Given the description of an element on the screen output the (x, y) to click on. 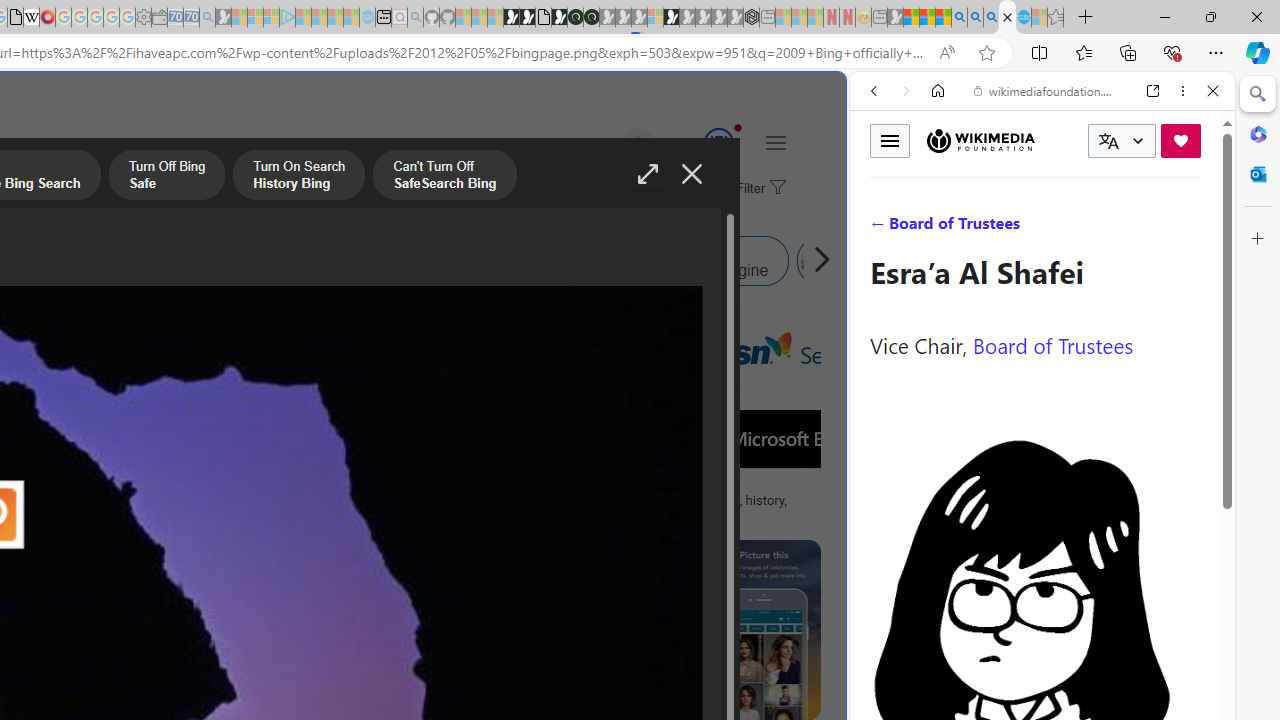
MSN Homepage Bing Search Engine (151, 260)
Bing Image Search Similar Images (292, 260)
MSN Homepage Bing Search Engine (69, 260)
Wikimedia Foundation (980, 140)
Technology History timeline | Timetoast timelinesSave (189, 417)
Close image (692, 173)
Board of Trustees (1053, 344)
